Given the description of an element on the screen output the (x, y) to click on. 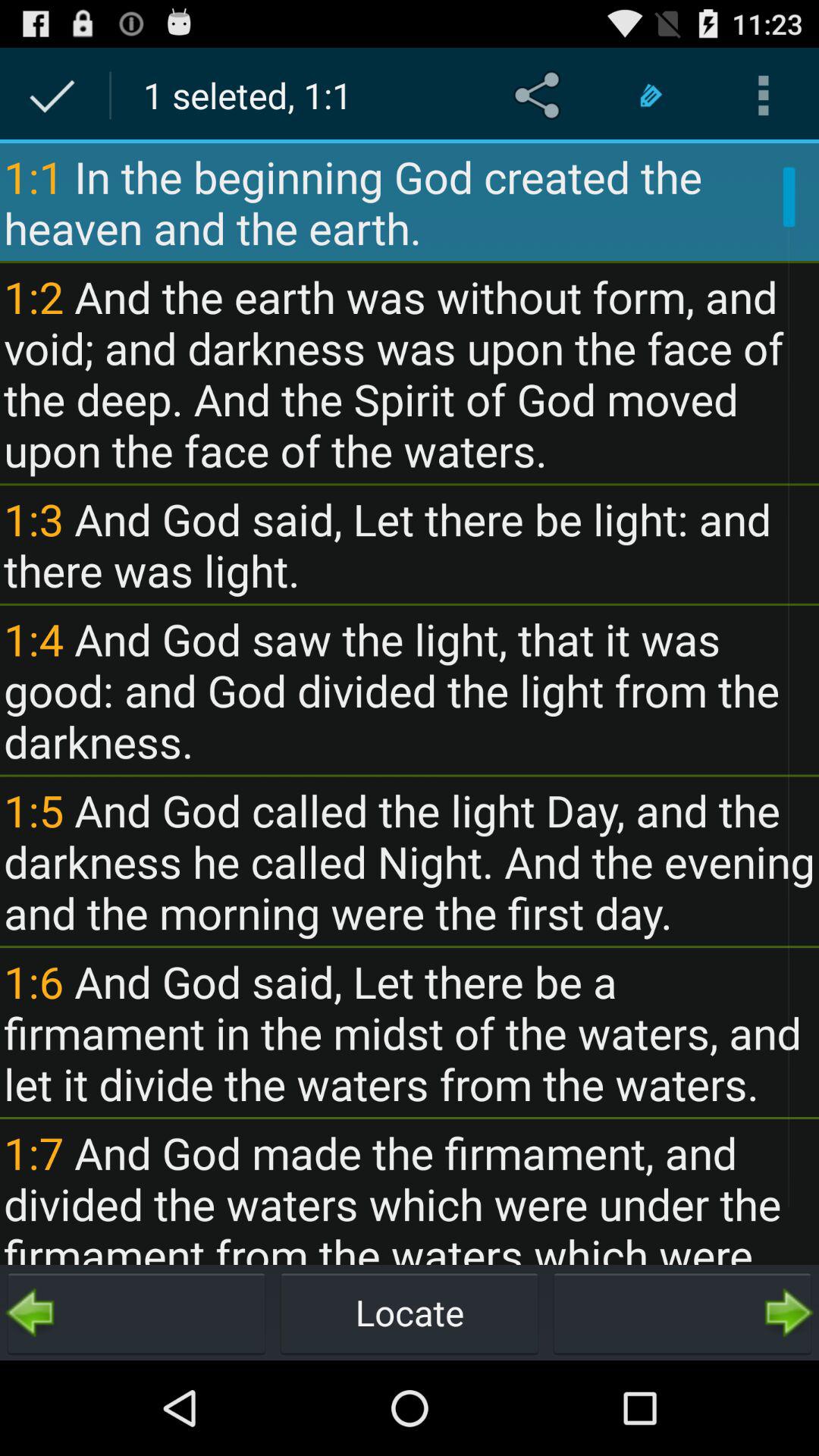
turn off button to the right of locate item (682, 1312)
